Given the description of an element on the screen output the (x, y) to click on. 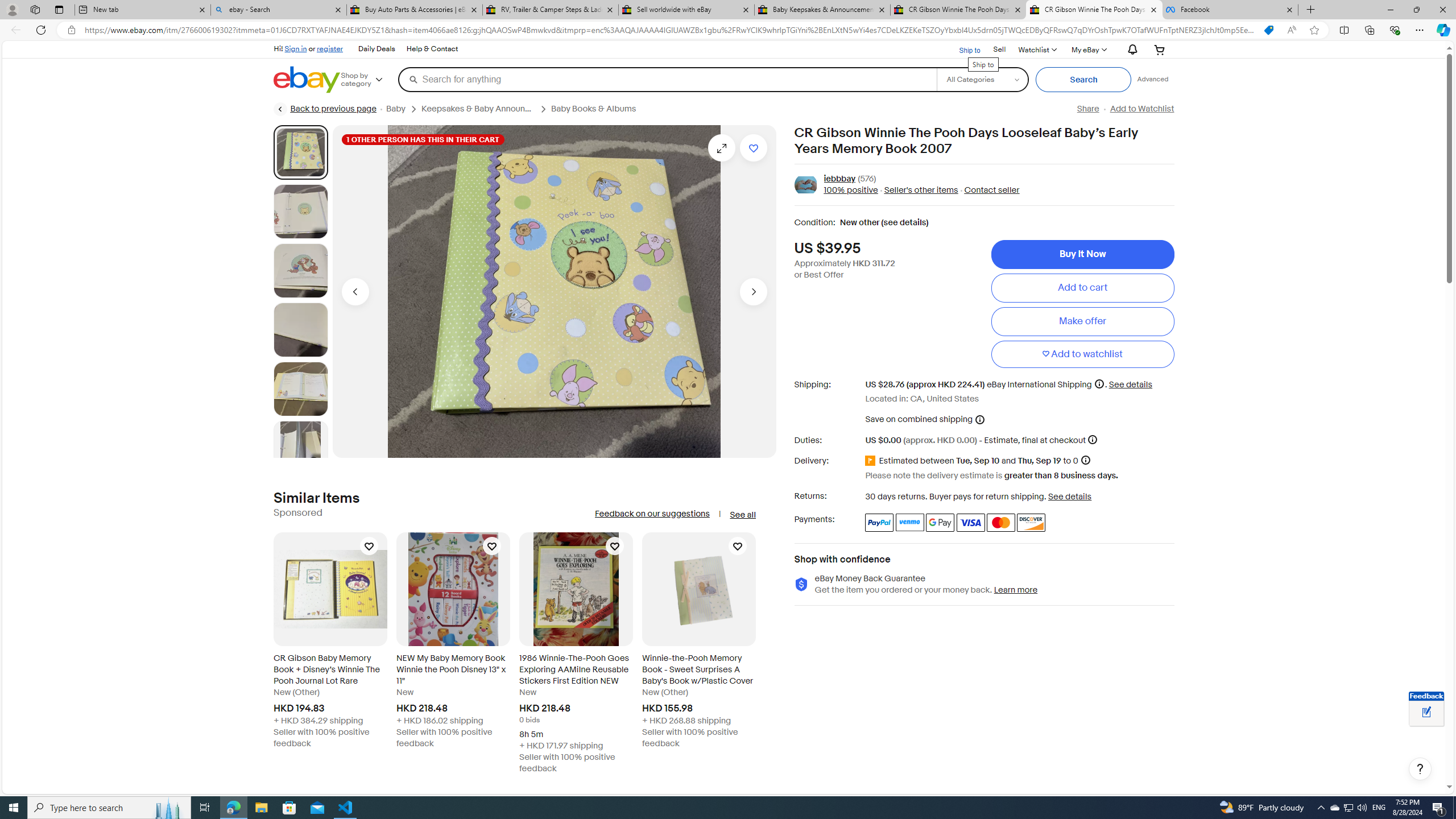
Buy Auto Parts & Accessories | eBay (414, 9)
Facebook (1230, 9)
You have the best price! (1268, 29)
